Given the description of an element on the screen output the (x, y) to click on. 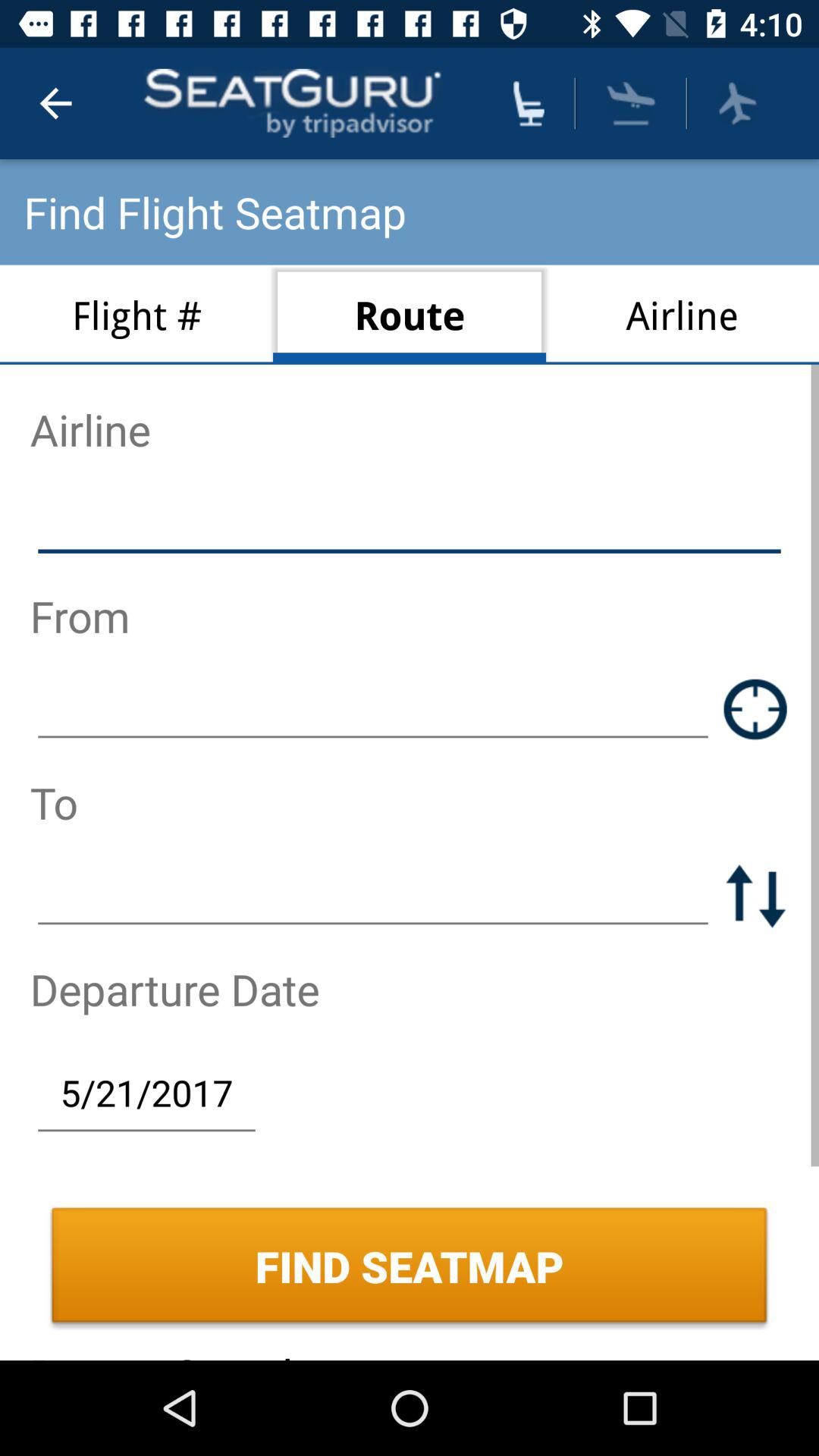
fill the blank space (409, 522)
